Given the description of an element on the screen output the (x, y) to click on. 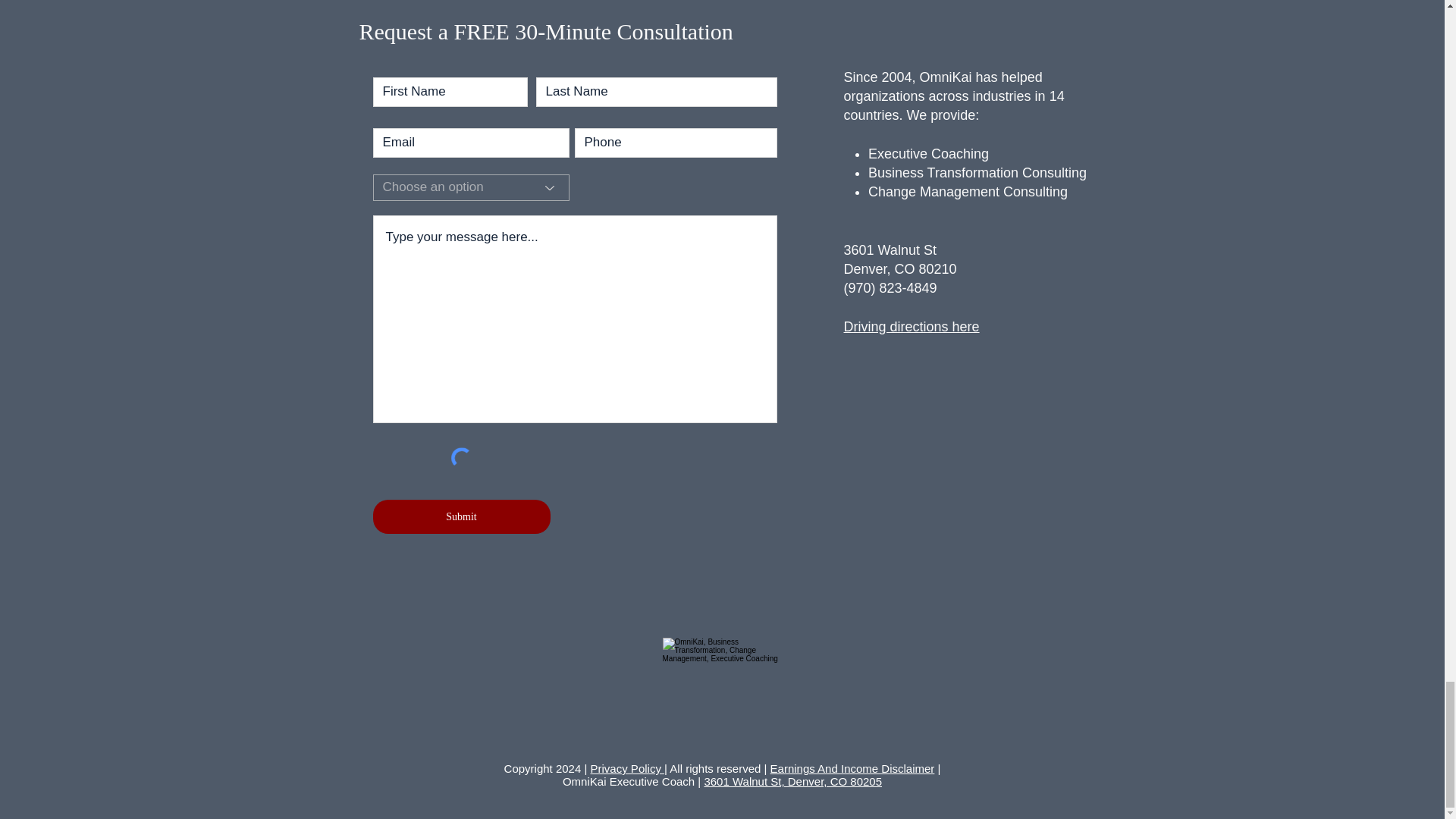
Submit (461, 516)
Earnings And Income Disclaimer (852, 768)
Driving directions here (910, 326)
Privacy Policy (628, 768)
3601 Walnut St, Denver, CO 80205 (792, 780)
